Given the description of an element on the screen output the (x, y) to click on. 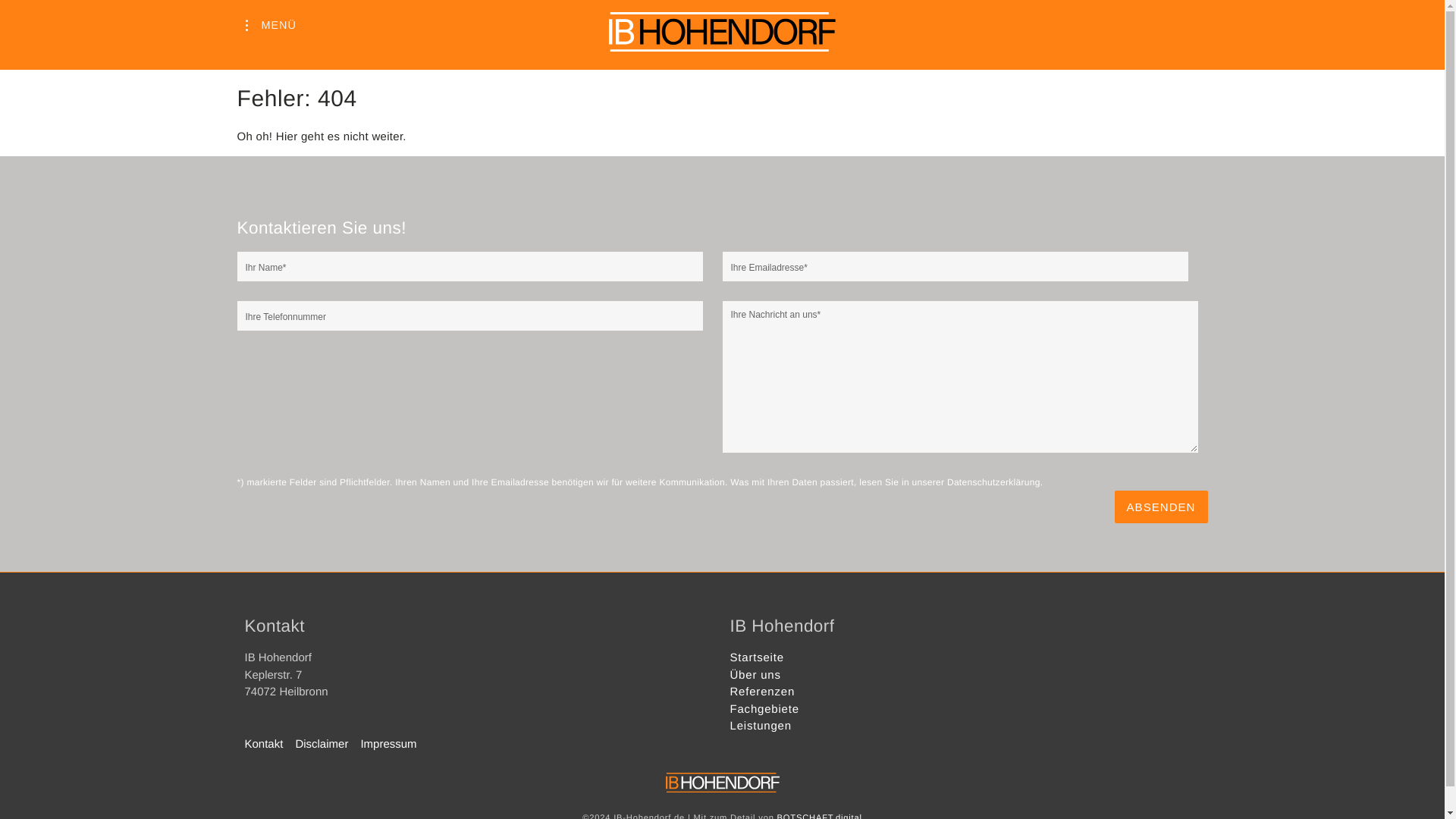
Absenden (1161, 506)
Referenzen (761, 691)
Fachgebiete (763, 708)
Absenden (1161, 506)
Impressum (393, 744)
Leistungen (759, 725)
Kontakt (269, 744)
Disclaimer (327, 744)
Startseite (756, 657)
